Given the description of an element on the screen output the (x, y) to click on. 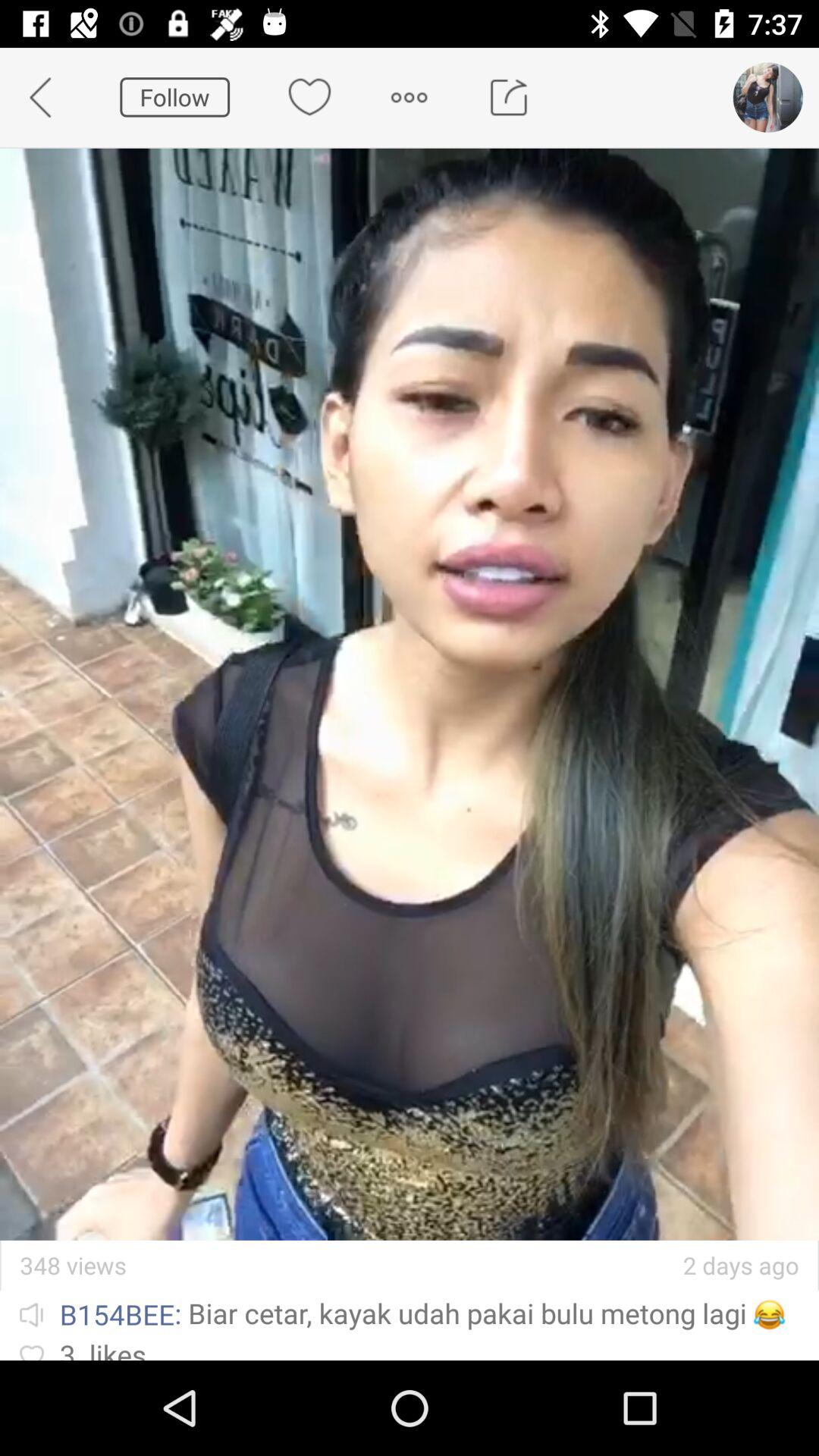
launch app to the left of follow (49, 97)
